Given the description of an element on the screen output the (x, y) to click on. 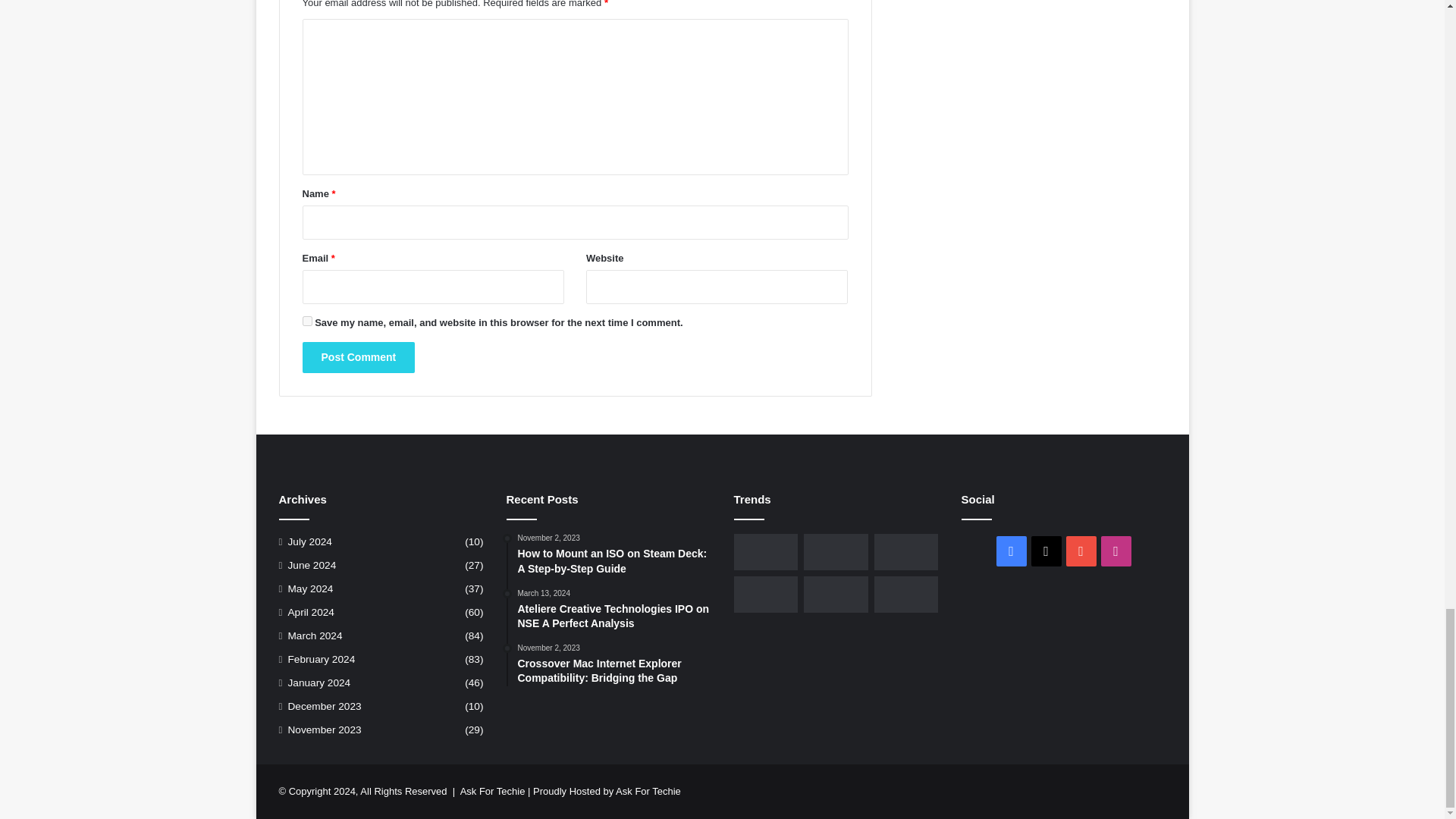
Post Comment (357, 357)
yes (306, 320)
Post Comment (357, 357)
